Given the description of an element on the screen output the (x, y) to click on. 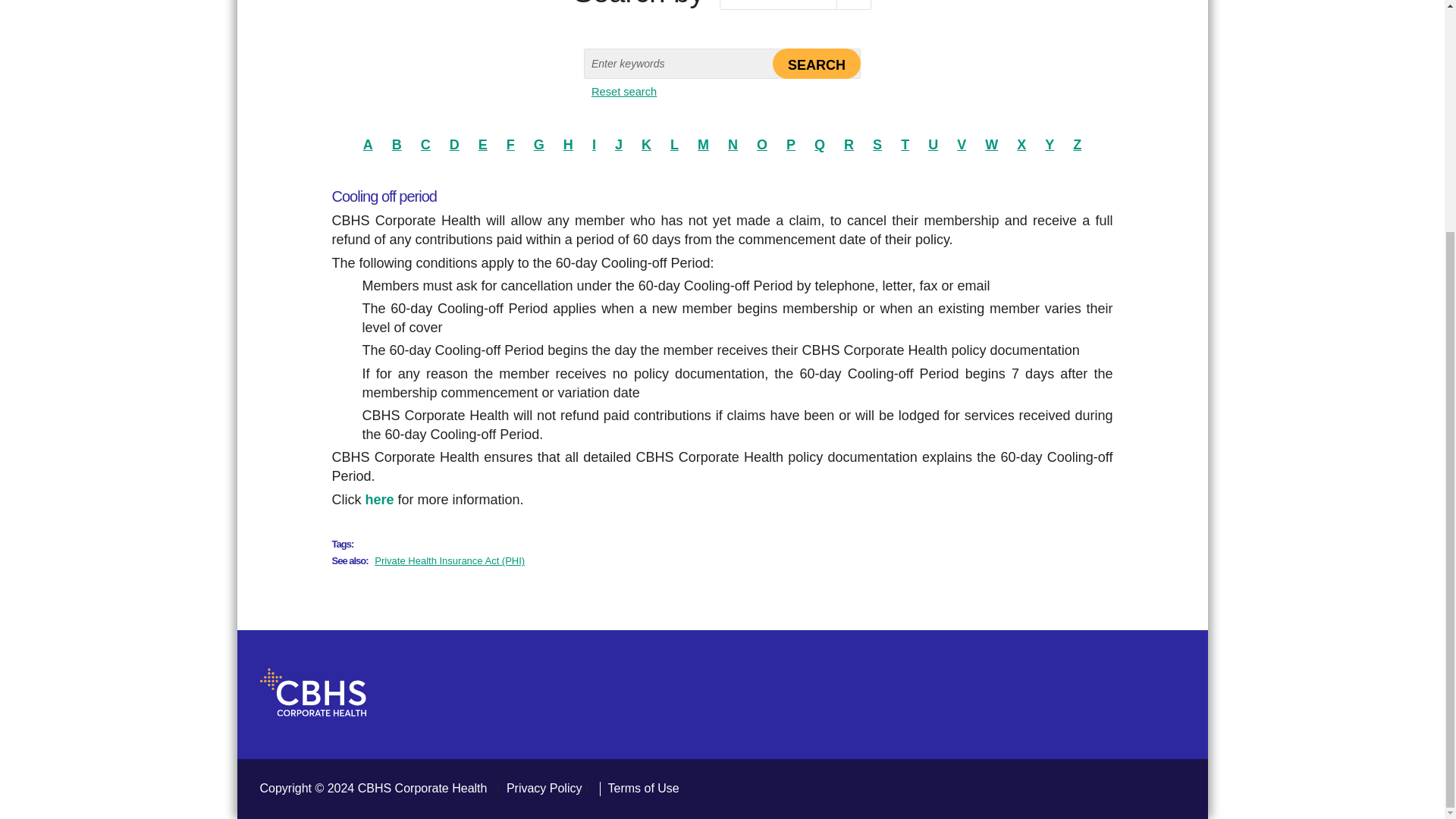
Search (816, 63)
